Given the description of an element on the screen output the (x, y) to click on. 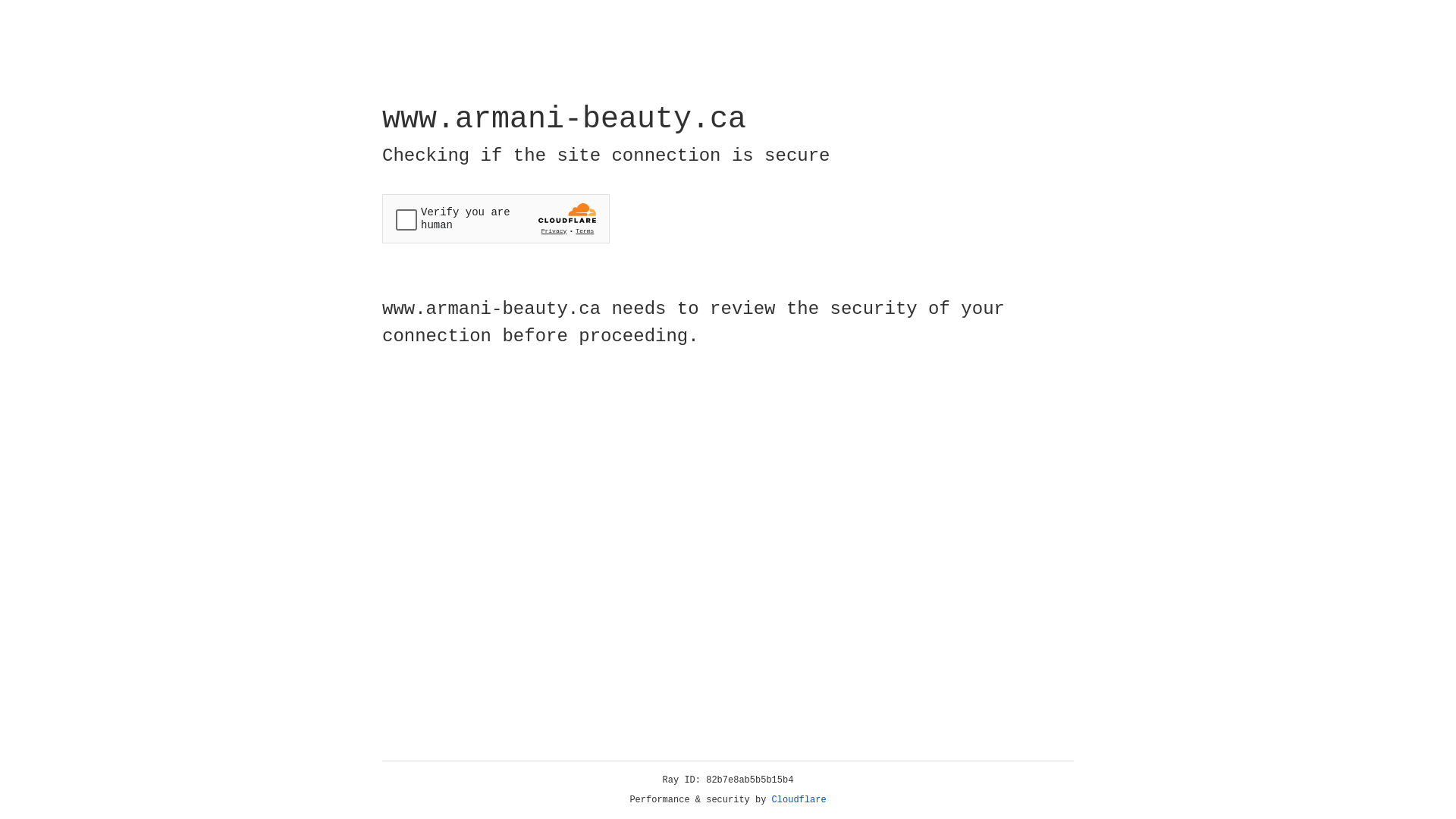
Cloudflare Element type: text (798, 799)
Widget containing a Cloudflare security challenge Element type: hover (495, 218)
